Given the description of an element on the screen output the (x, y) to click on. 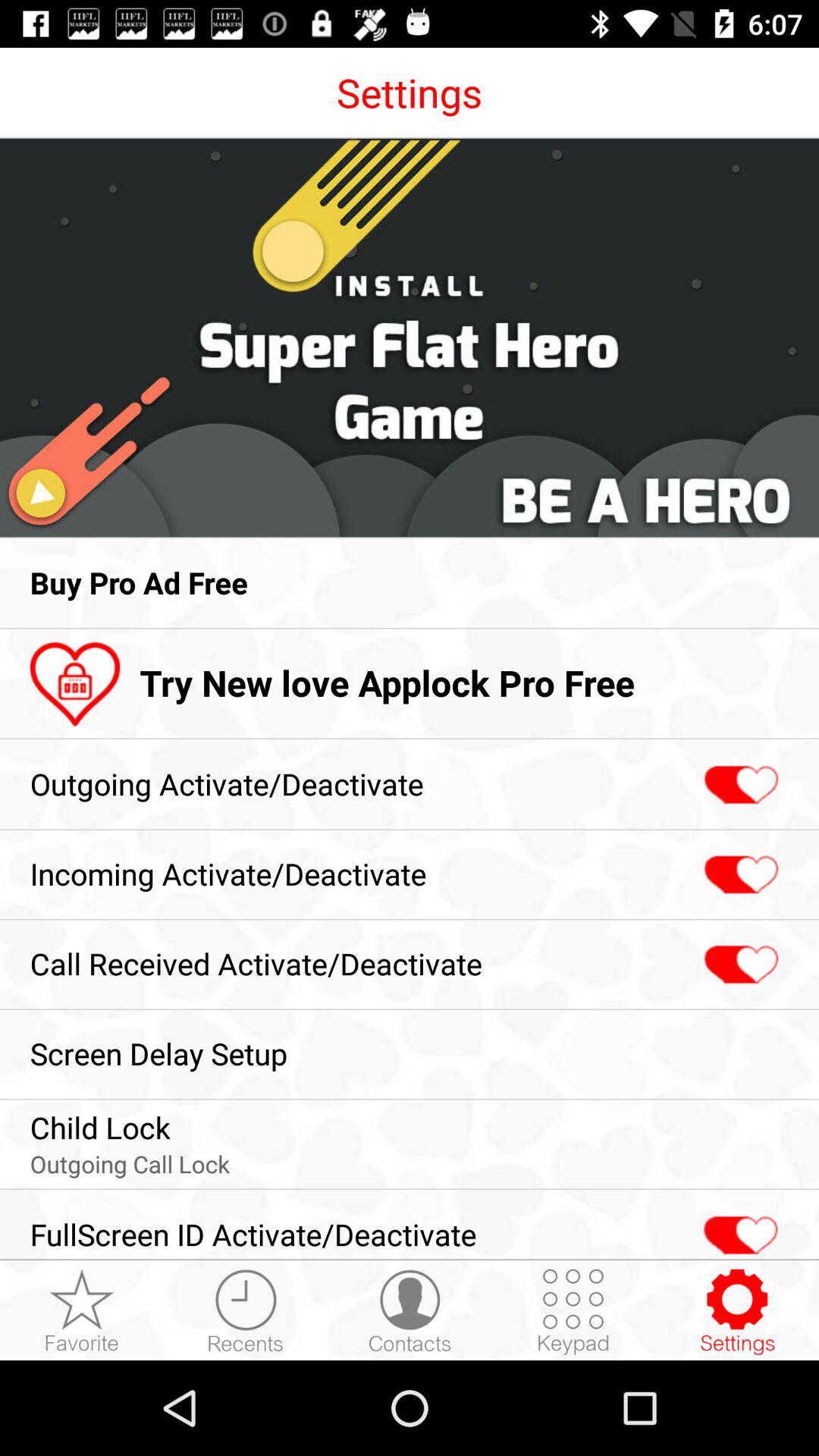
press the icon to the right of the call received activate (739, 964)
